Given the description of an element on the screen output the (x, y) to click on. 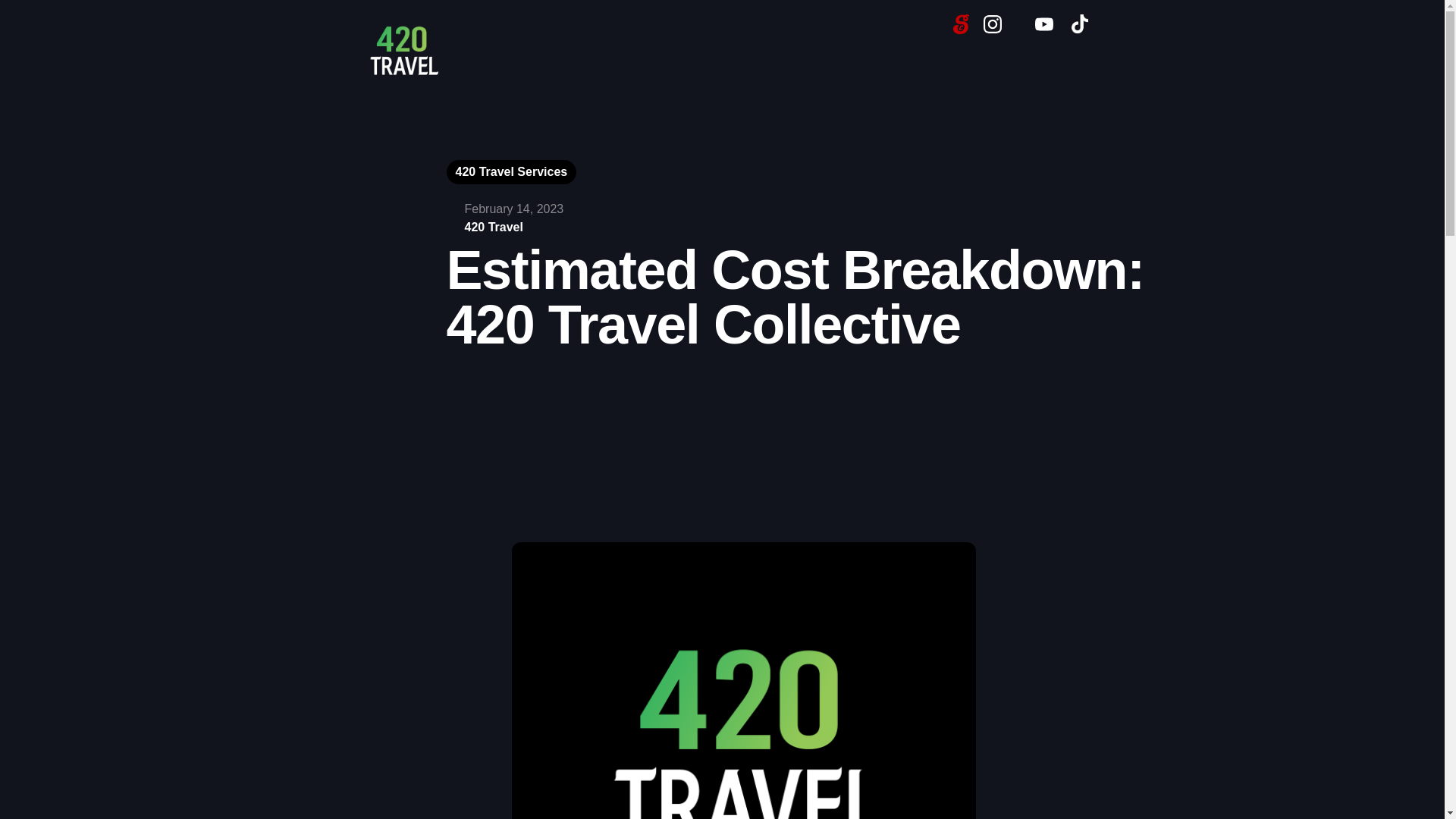
420 Travel Services Element type: text (510, 172)
420 Travel Element type: text (493, 227)
